Given the description of an element on the screen output the (x, y) to click on. 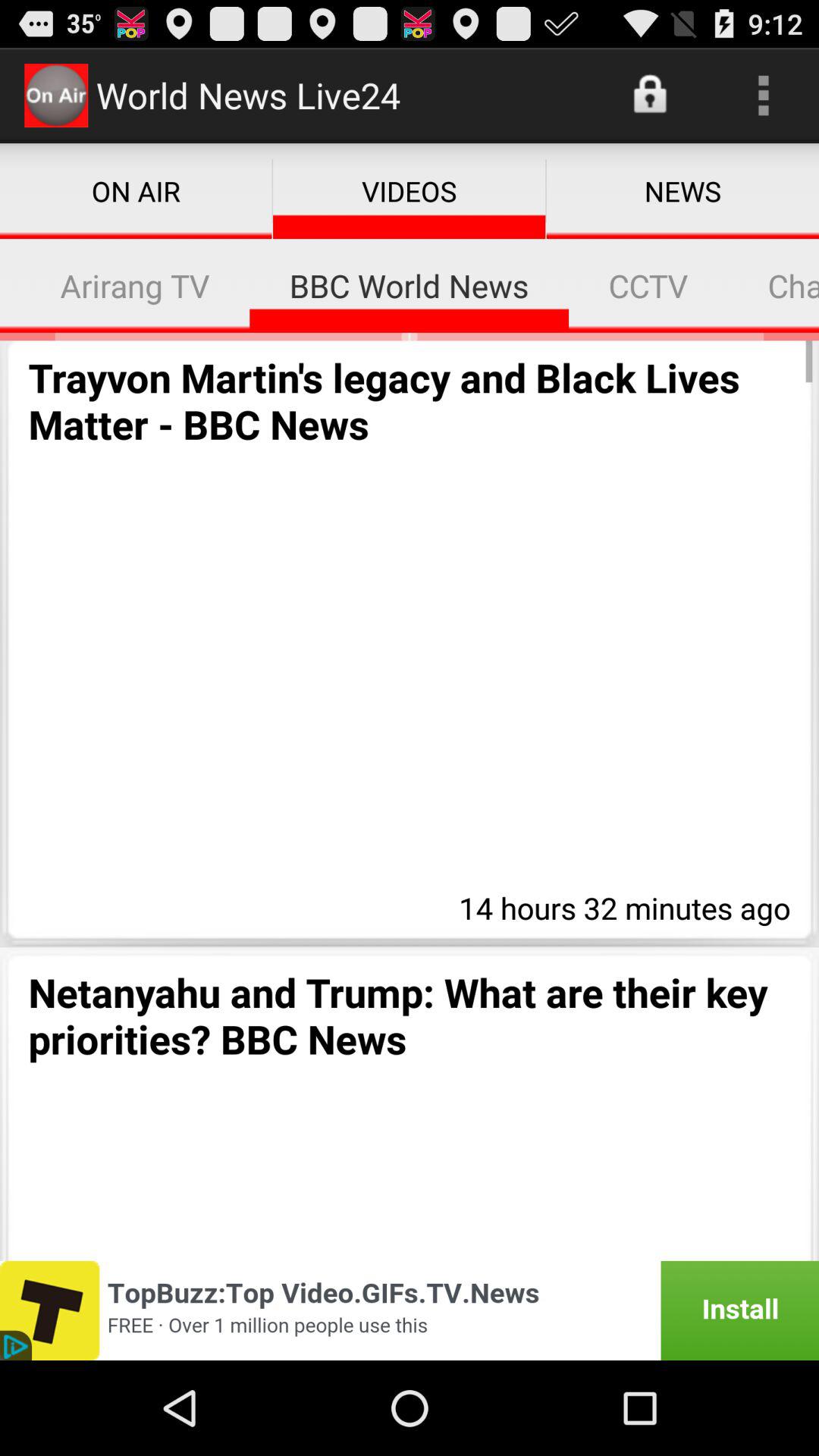
choose the item above netanyahu and trump app (620, 905)
